Given the description of an element on the screen output the (x, y) to click on. 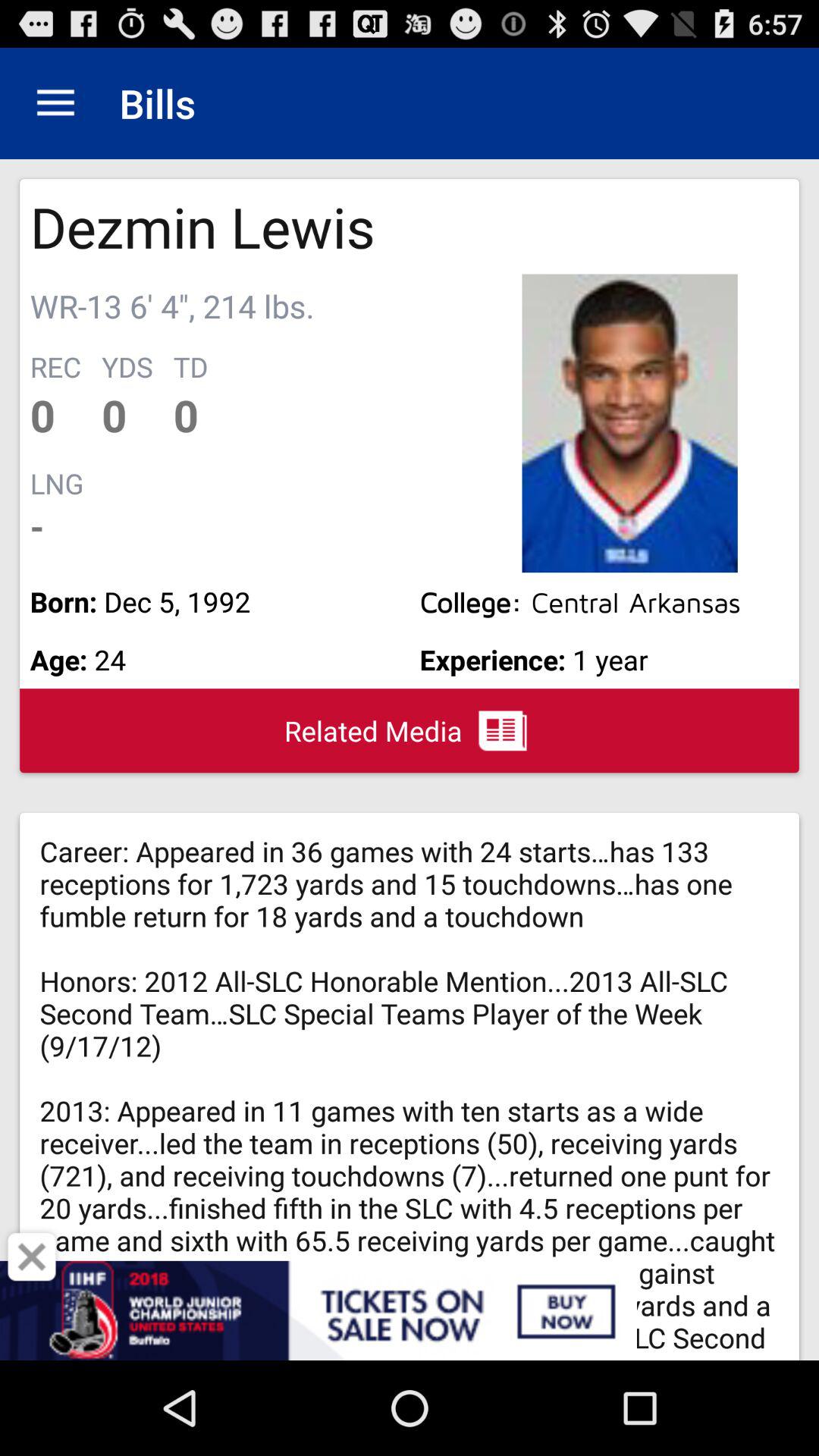
open item below the related media icon (409, 1310)
